Given the description of an element on the screen output the (x, y) to click on. 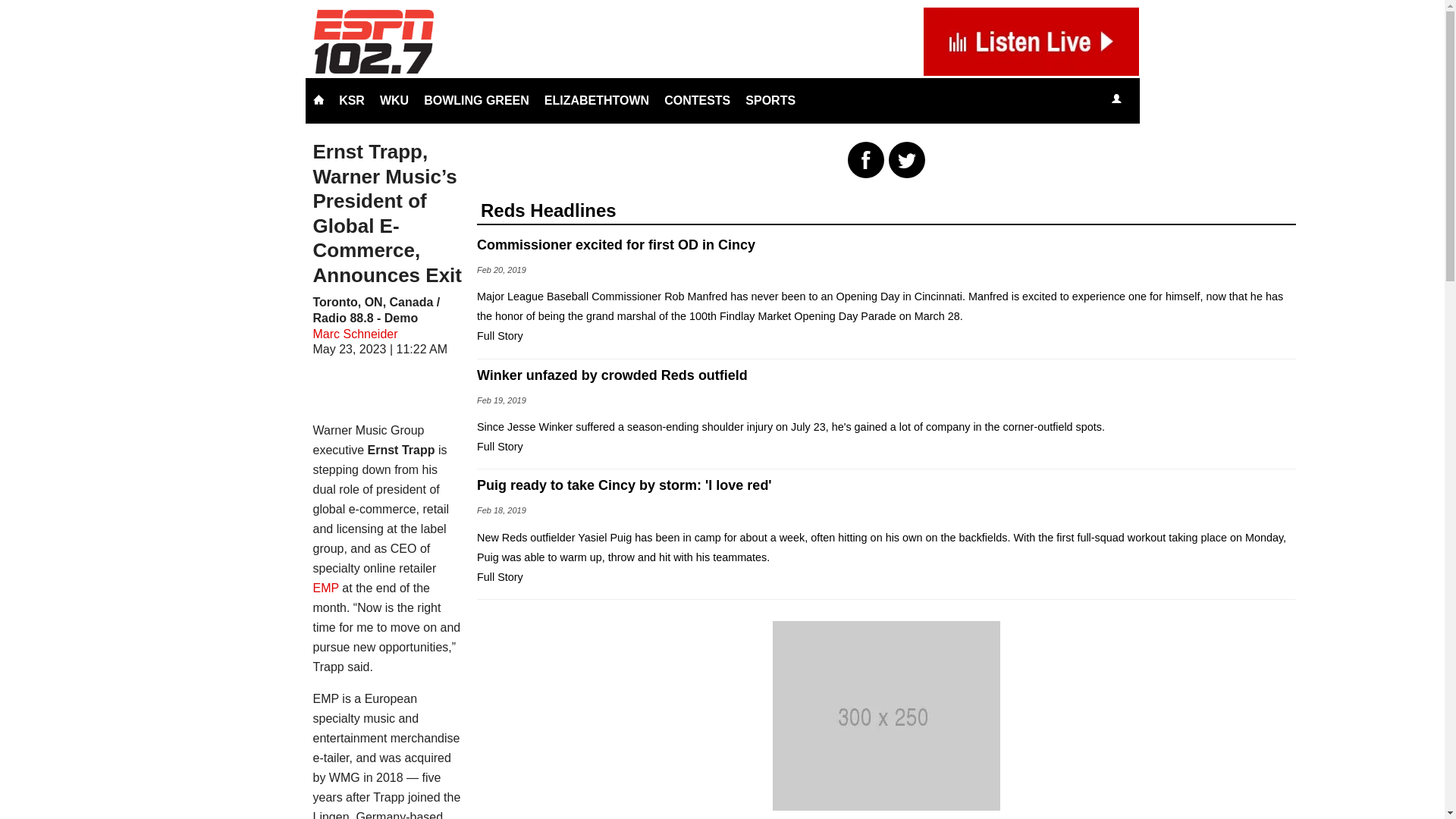
EMP (325, 587)
Listen Live (1161, 100)
ELIZABETHTOWN (596, 100)
SPORTS (770, 100)
Marc Schneider (355, 333)
Sign In (1115, 100)
HOME (318, 99)
Winker unfazed by crowded Reds outfield (886, 375)
BOWLING GREEN (476, 100)
CONTESTS (697, 100)
Full Story (499, 336)
Sign In (1116, 99)
WKU (394, 100)
Commissioner excited for first OD in Cincy (886, 244)
KSR (351, 100)
